Given the description of an element on the screen output the (x, y) to click on. 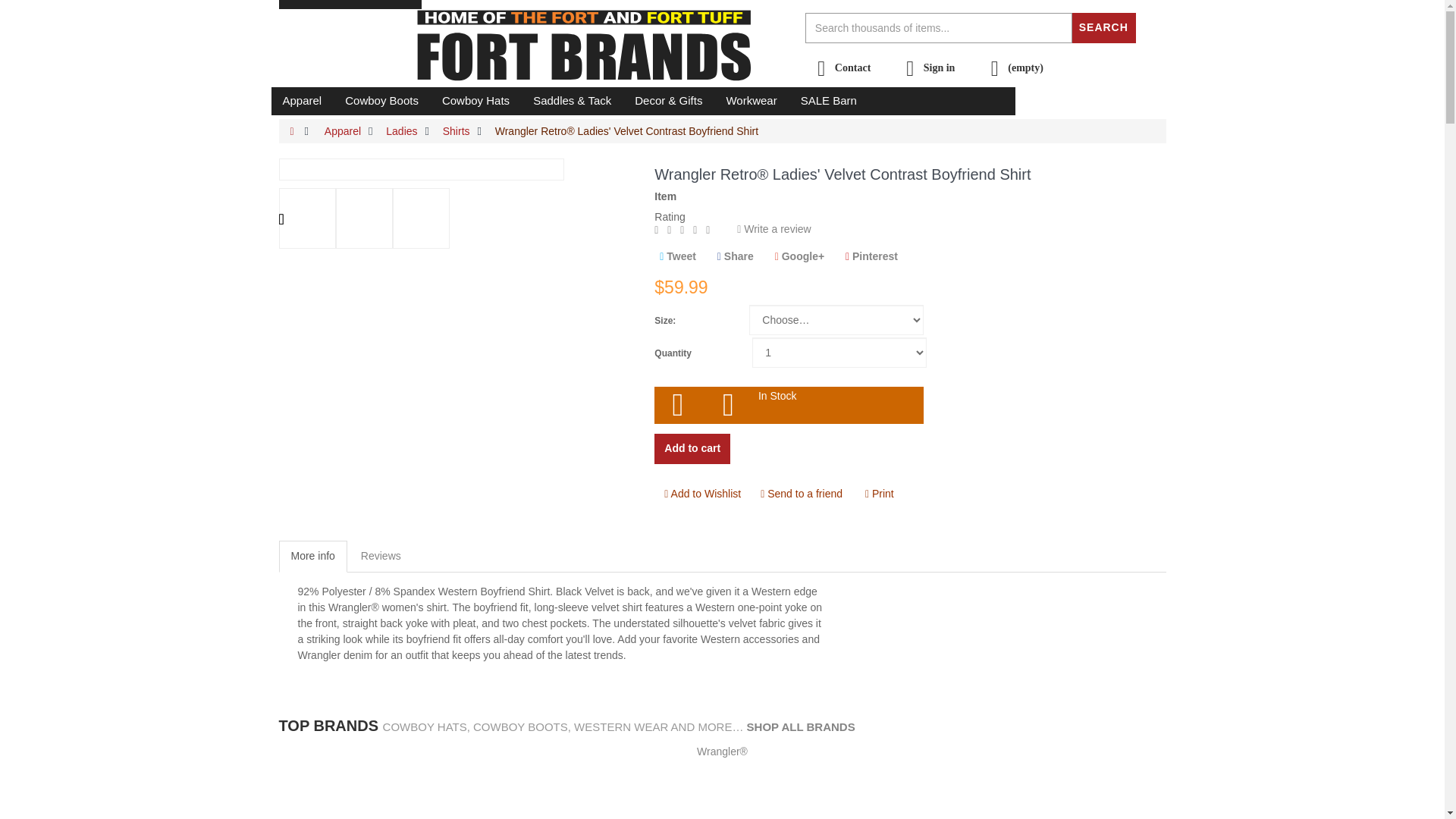
Fort Brands (598, 47)
SEARCH (1103, 27)
 Contact (840, 67)
Apparel (301, 99)
Apparel (301, 99)
 Sign in (927, 67)
